Given the description of an element on the screen output the (x, y) to click on. 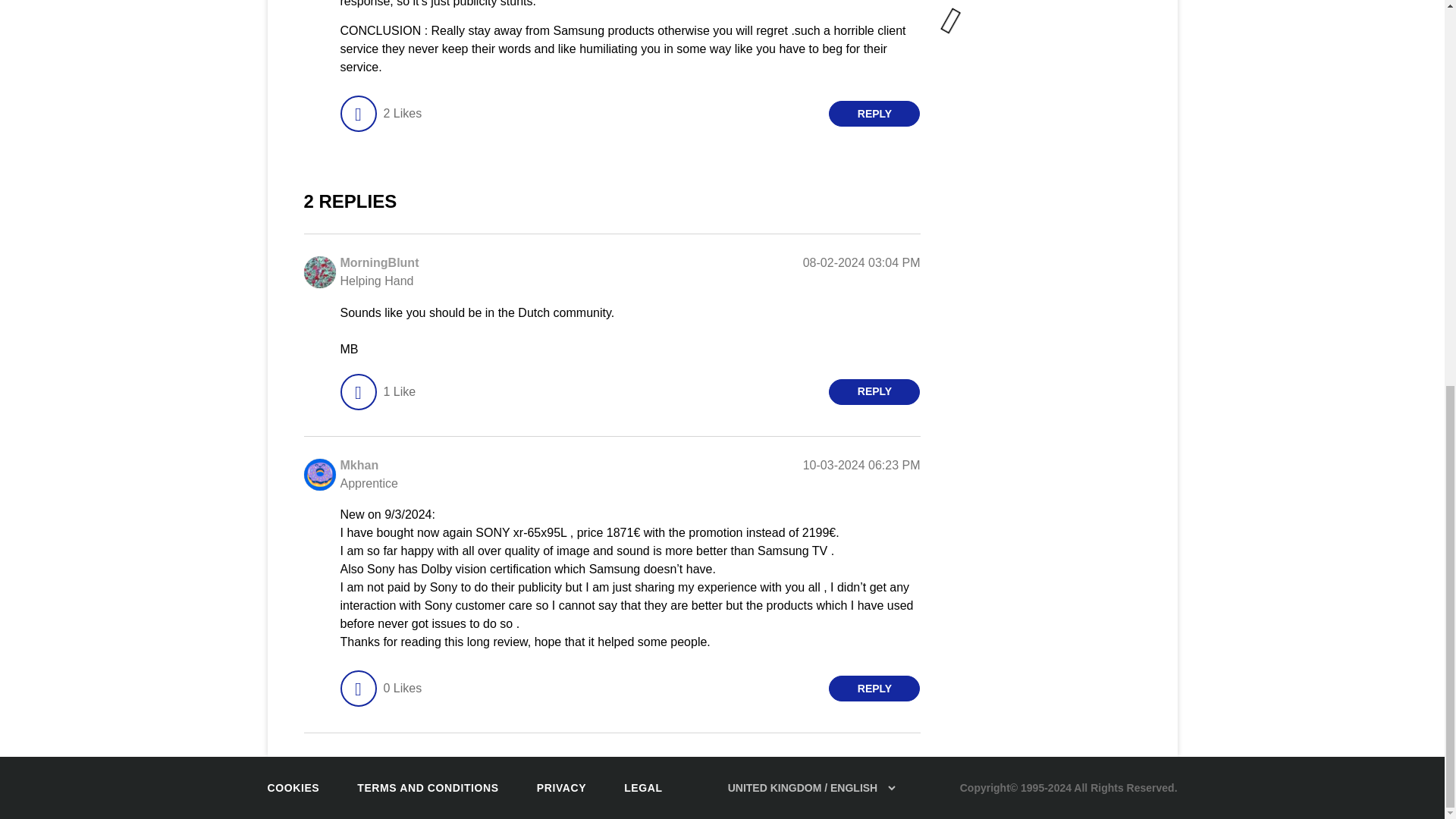
2 Likes (401, 113)
Click here to give likes to this post. (357, 113)
MorningBlunt (379, 262)
Click here to see who gave likes to this post. (401, 113)
REPLY (874, 113)
